Given the description of an element on the screen output the (x, y) to click on. 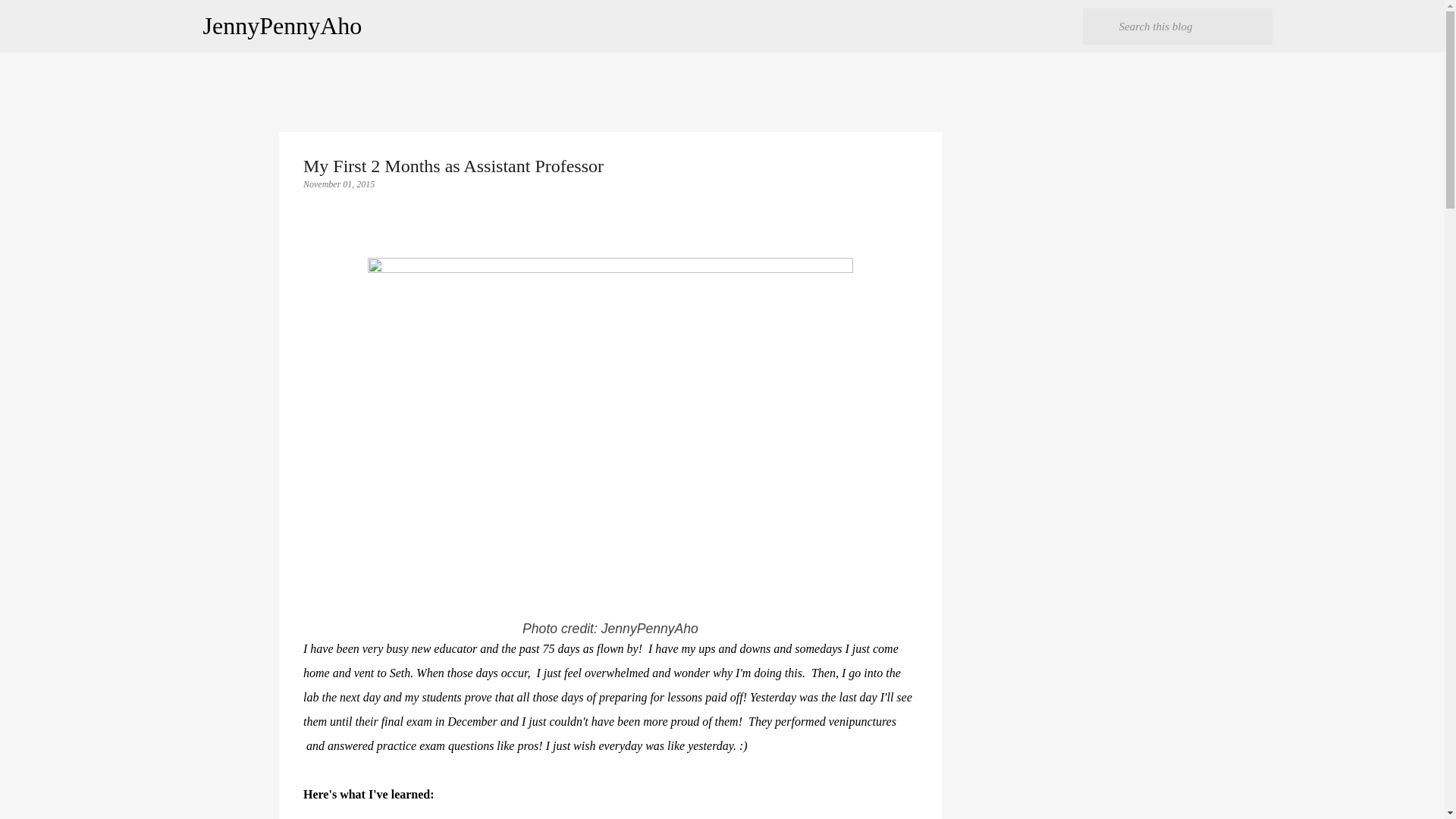
November 01, 2015 (338, 184)
JennyPennyAho (282, 25)
permanent link (338, 184)
